Given the description of an element on the screen output the (x, y) to click on. 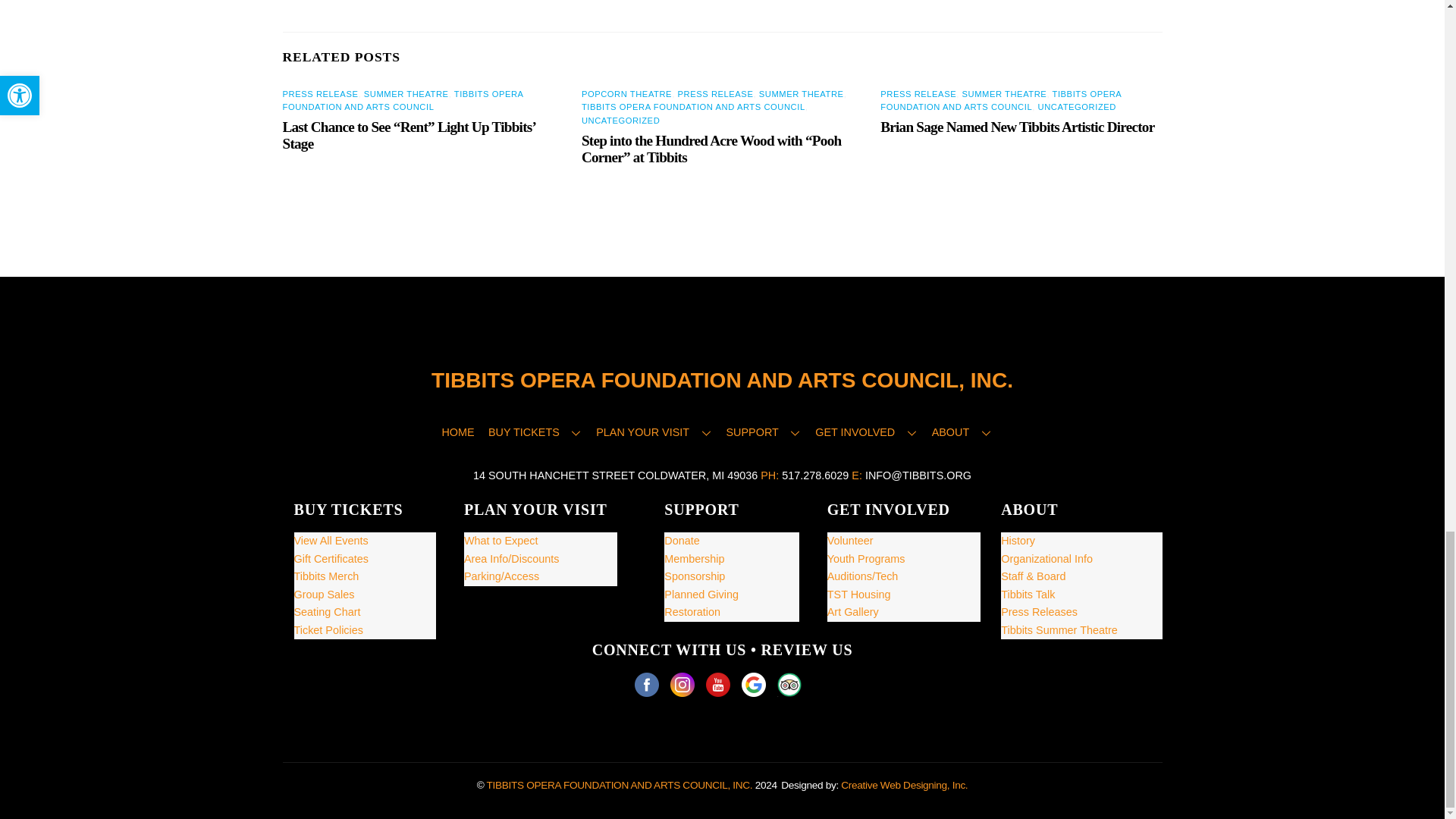
TIBBITS OPERA FOUNDATION AND ARTS COUNCIL, INC. (721, 380)
